Given the description of an element on the screen output the (x, y) to click on. 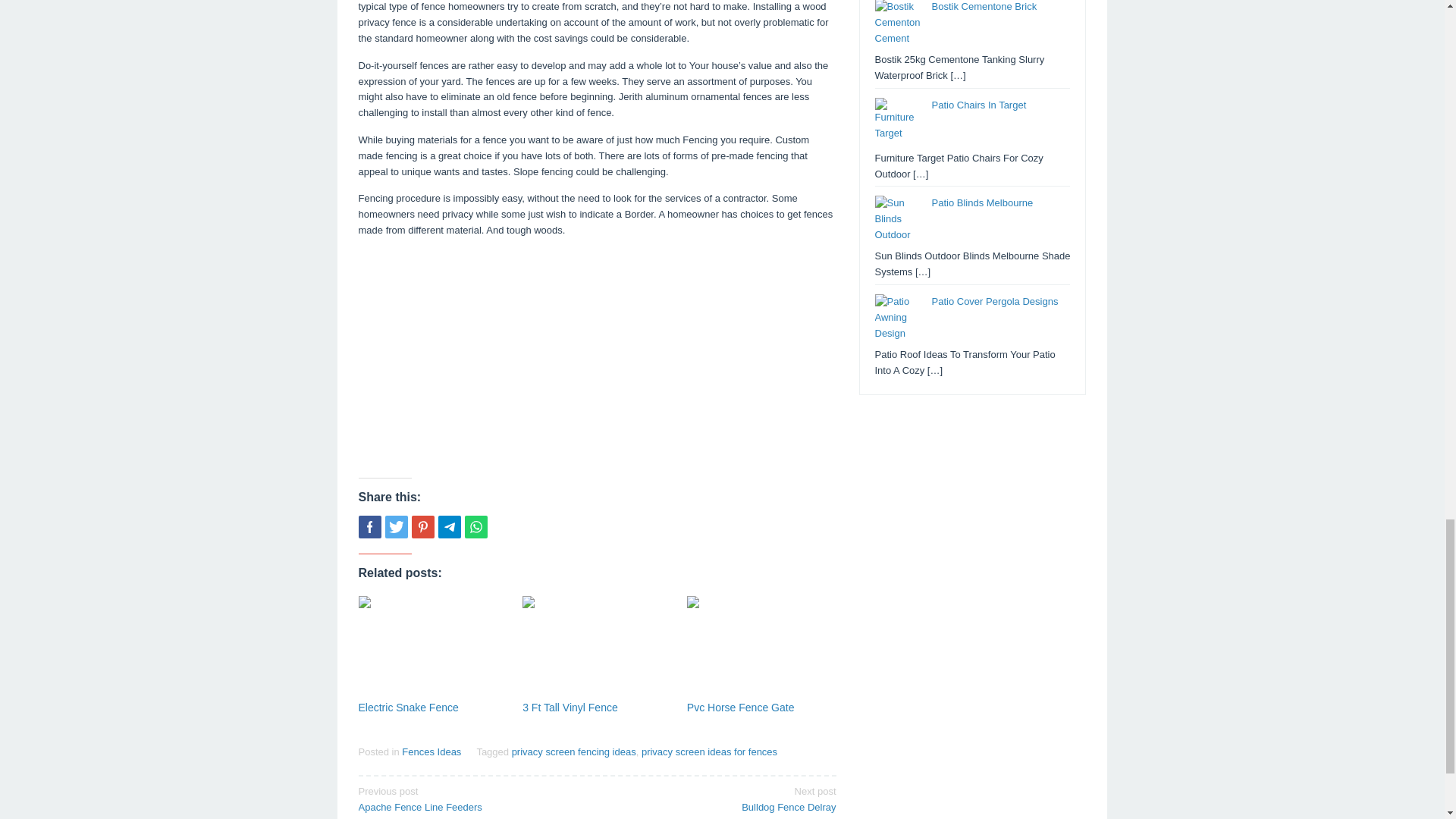
Telegram Share (449, 526)
Fences Ideas (431, 751)
Share this (369, 526)
Permalink to: 3 Ft Tall Vinyl Fence (596, 646)
3 Ft Tall Vinyl Fence (569, 707)
Permalink to: Pvc Horse Fence Gate (761, 646)
Pin this (421, 526)
Tweet this (396, 526)
Permalink to: Electric Snake Fence (408, 707)
privacy screen ideas for fences (709, 751)
